Given the description of an element on the screen output the (x, y) to click on. 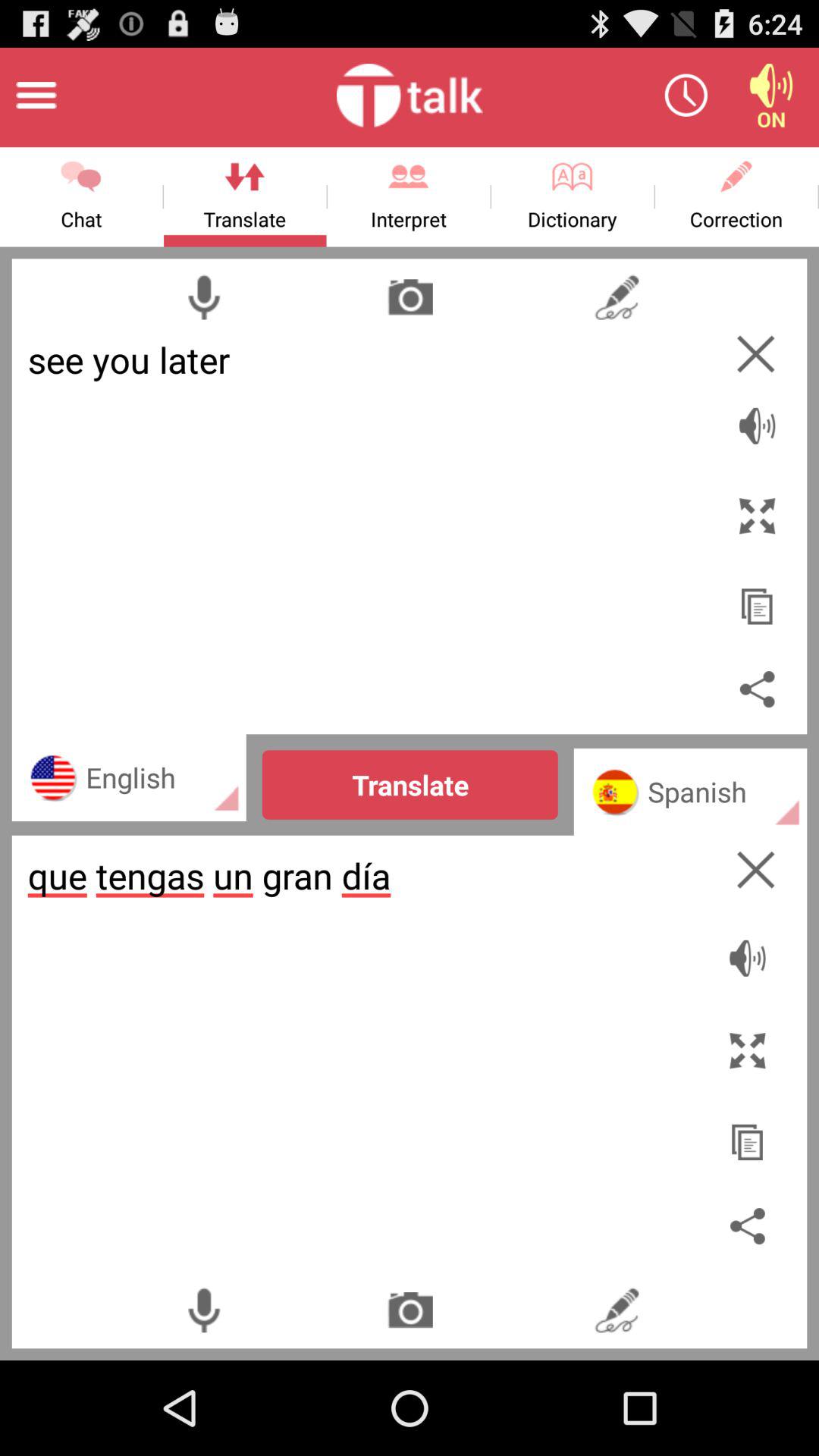
start recording (203, 1309)
